Given the description of an element on the screen output the (x, y) to click on. 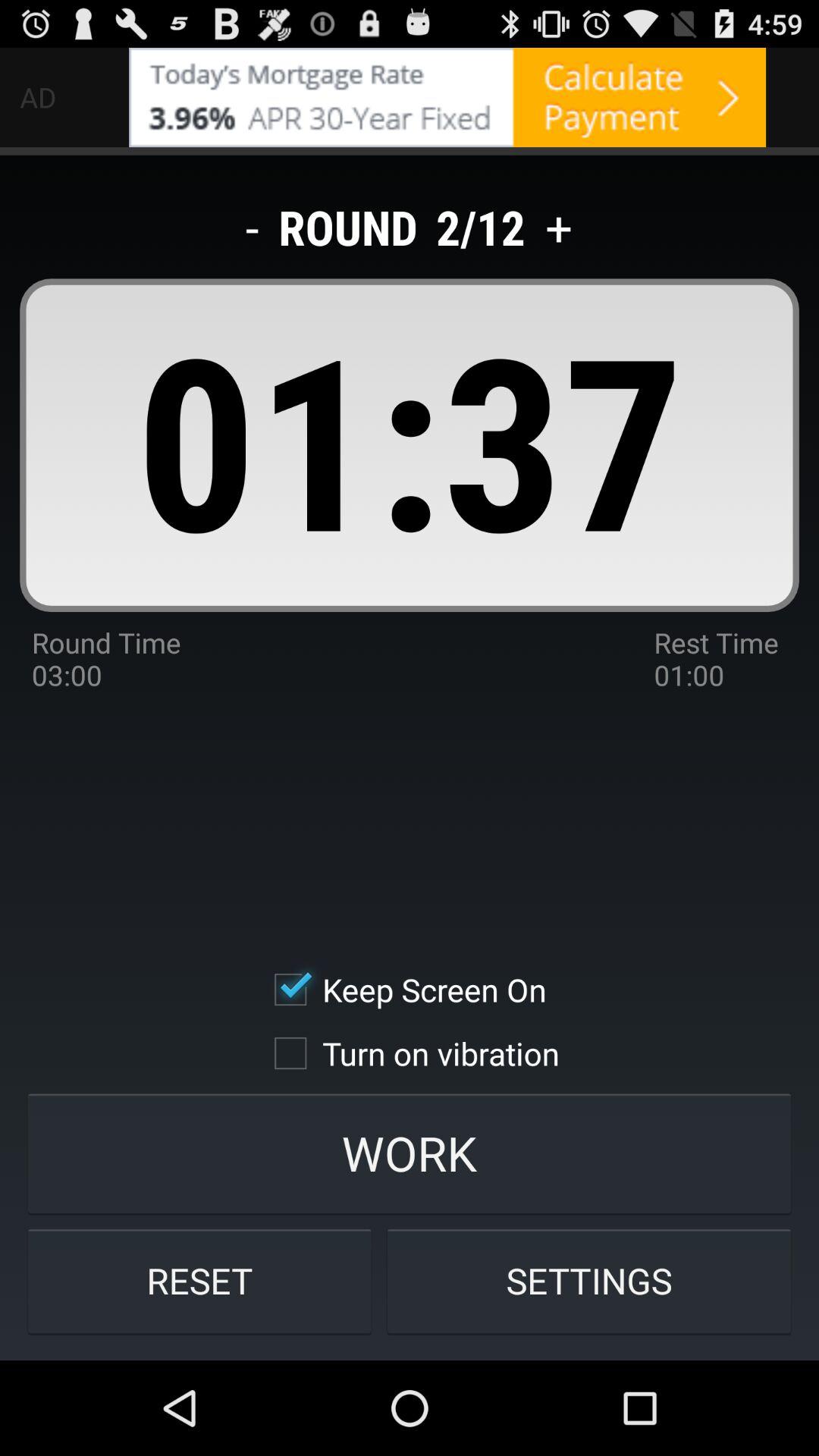
advertisement bar (447, 97)
